Given the description of an element on the screen output the (x, y) to click on. 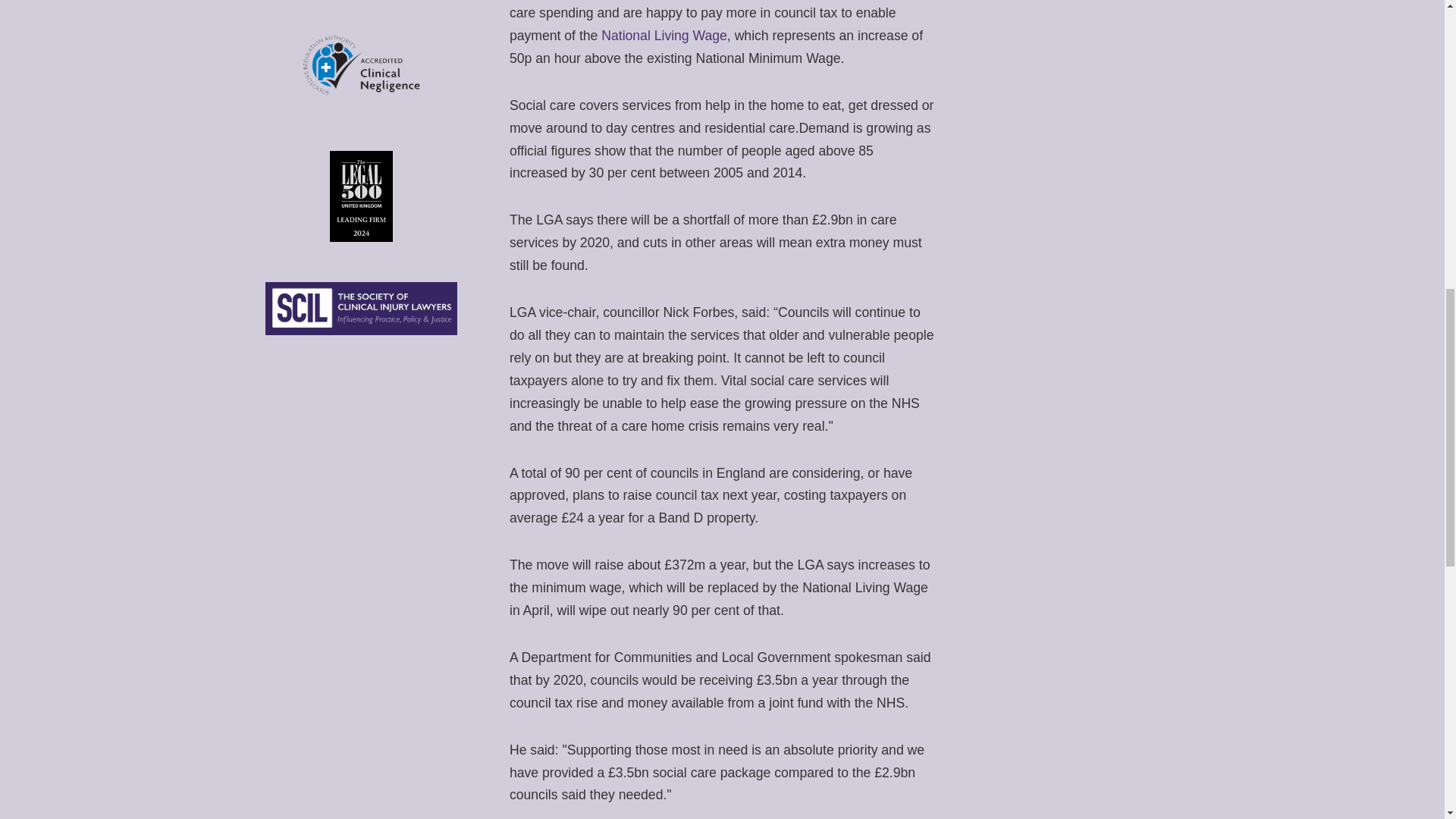
National Living Wage (663, 35)
